Given the description of an element on the screen output the (x, y) to click on. 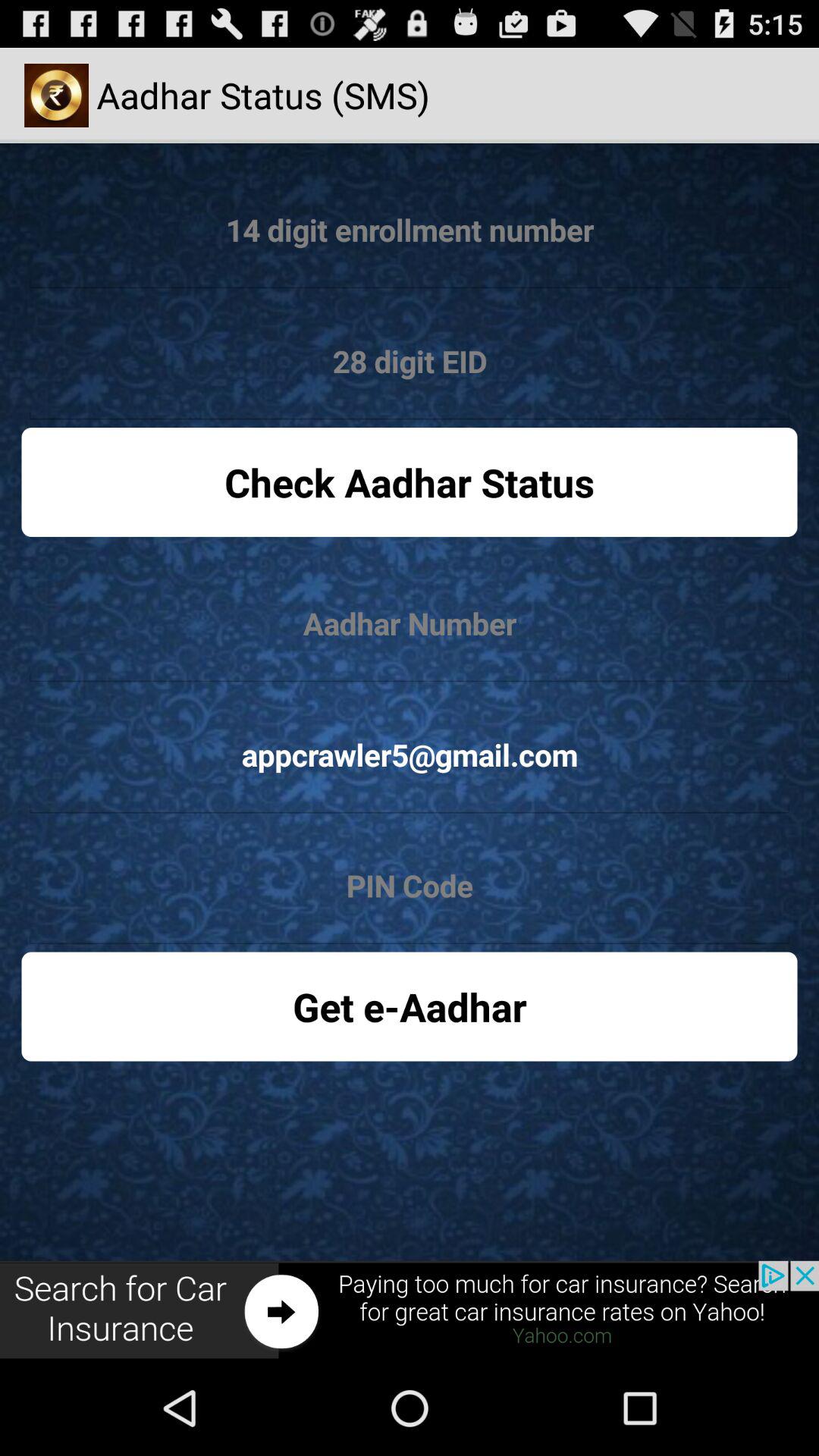
view enrollment number (409, 230)
